Given the description of an element on the screen output the (x, y) to click on. 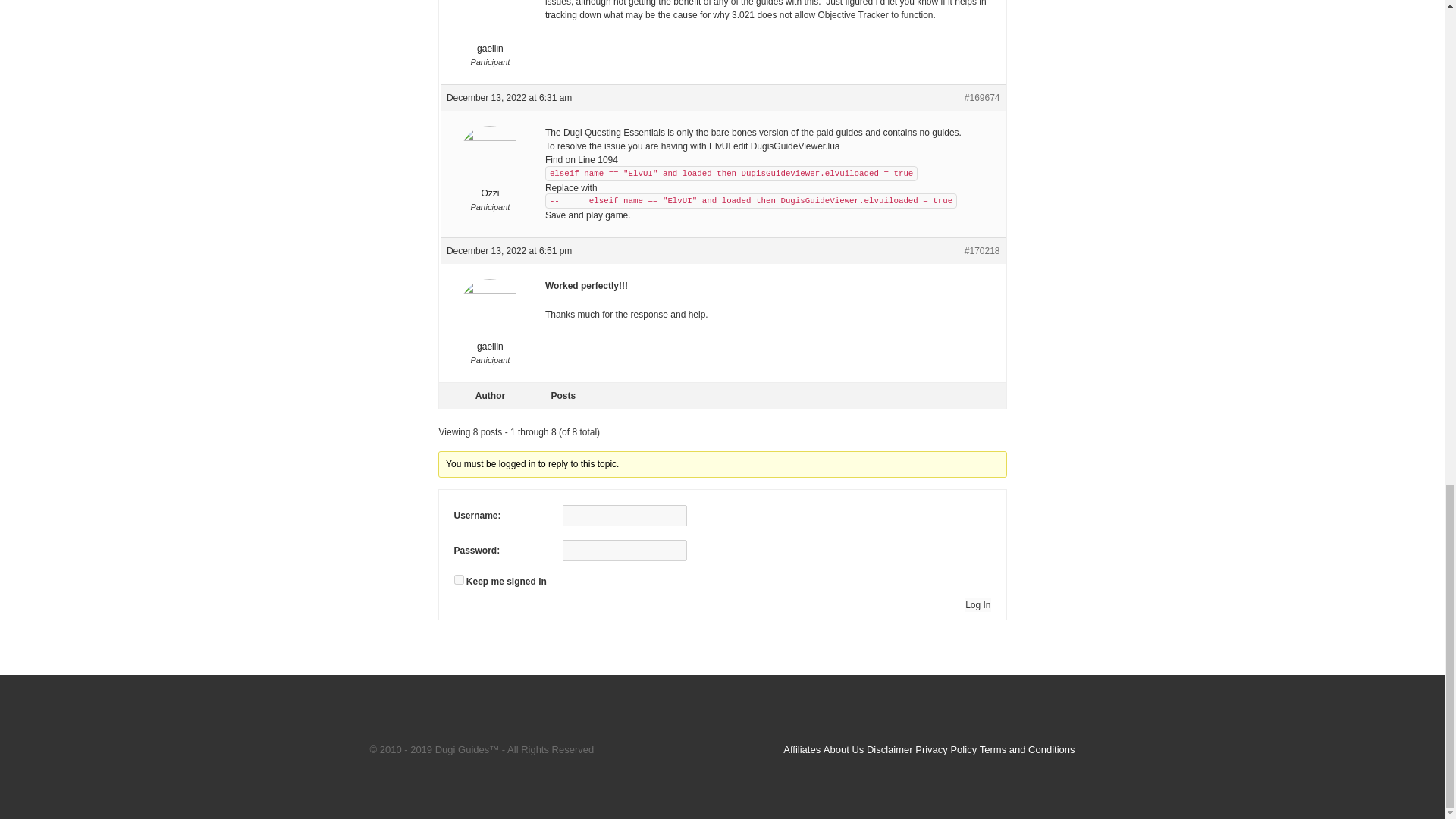
forever (457, 579)
Privacy Policy (945, 749)
About Us (843, 749)
Disclaimer (889, 749)
Log In (977, 604)
Affiliates (802, 749)
Terms and Conditions (1027, 749)
gaellin (490, 27)
gaellin (490, 315)
View gaellin's profile (490, 27)
Ozzi (490, 162)
